Given the description of an element on the screen output the (x, y) to click on. 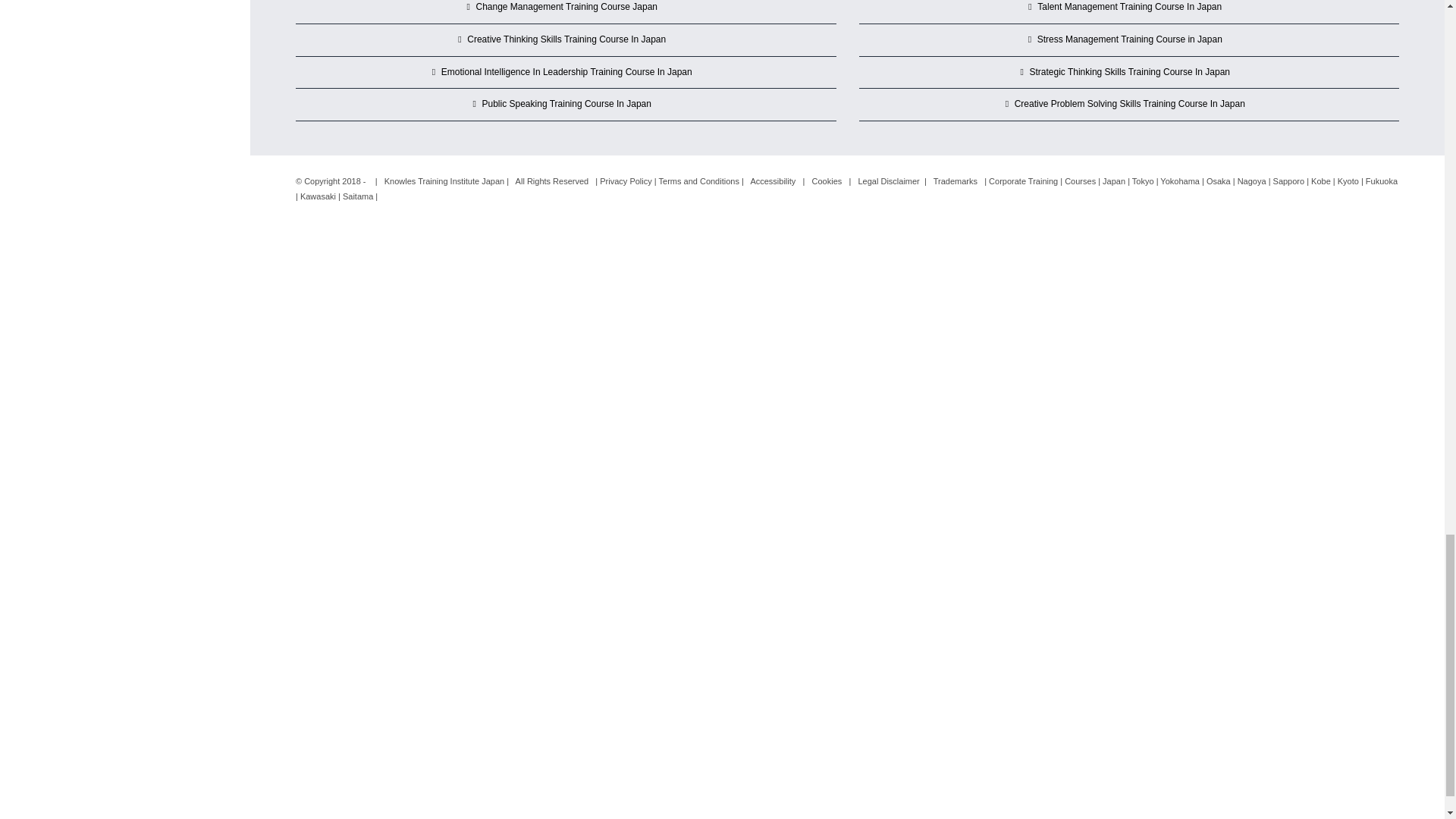
Knowles Training Institute Japan (443, 180)
Strategic Thinking Skills Training Course In Japan (1129, 72)
Terms and Conditions (699, 180)
Talent Management Training Course In Japan (1129, 7)
Public Speaking Training Course In Japan (566, 104)
Accessibility (771, 180)
Change Management Training Course Japan (566, 7)
Creative Problem Solving Skills Training Course In Japan (1129, 104)
Cookies (827, 180)
Stress Management Training Course in Japan (1129, 39)
Creative Thinking Skills Training Course In Japan (566, 39)
Privacy Policy (624, 180)
